Given the description of an element on the screen output the (x, y) to click on. 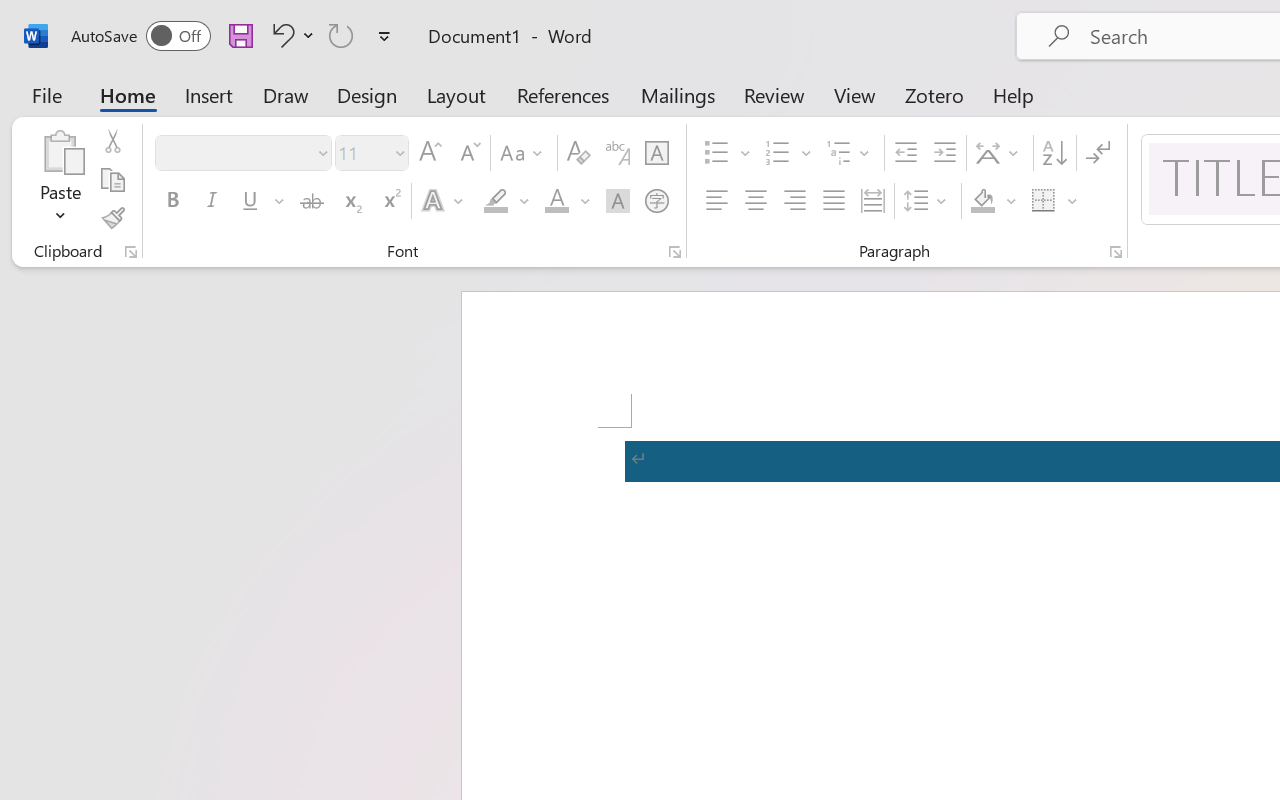
Font Color RGB(255, 0, 0) (556, 201)
Undo Apply Quick Style Set (280, 35)
